Given the description of an element on the screen output the (x, y) to click on. 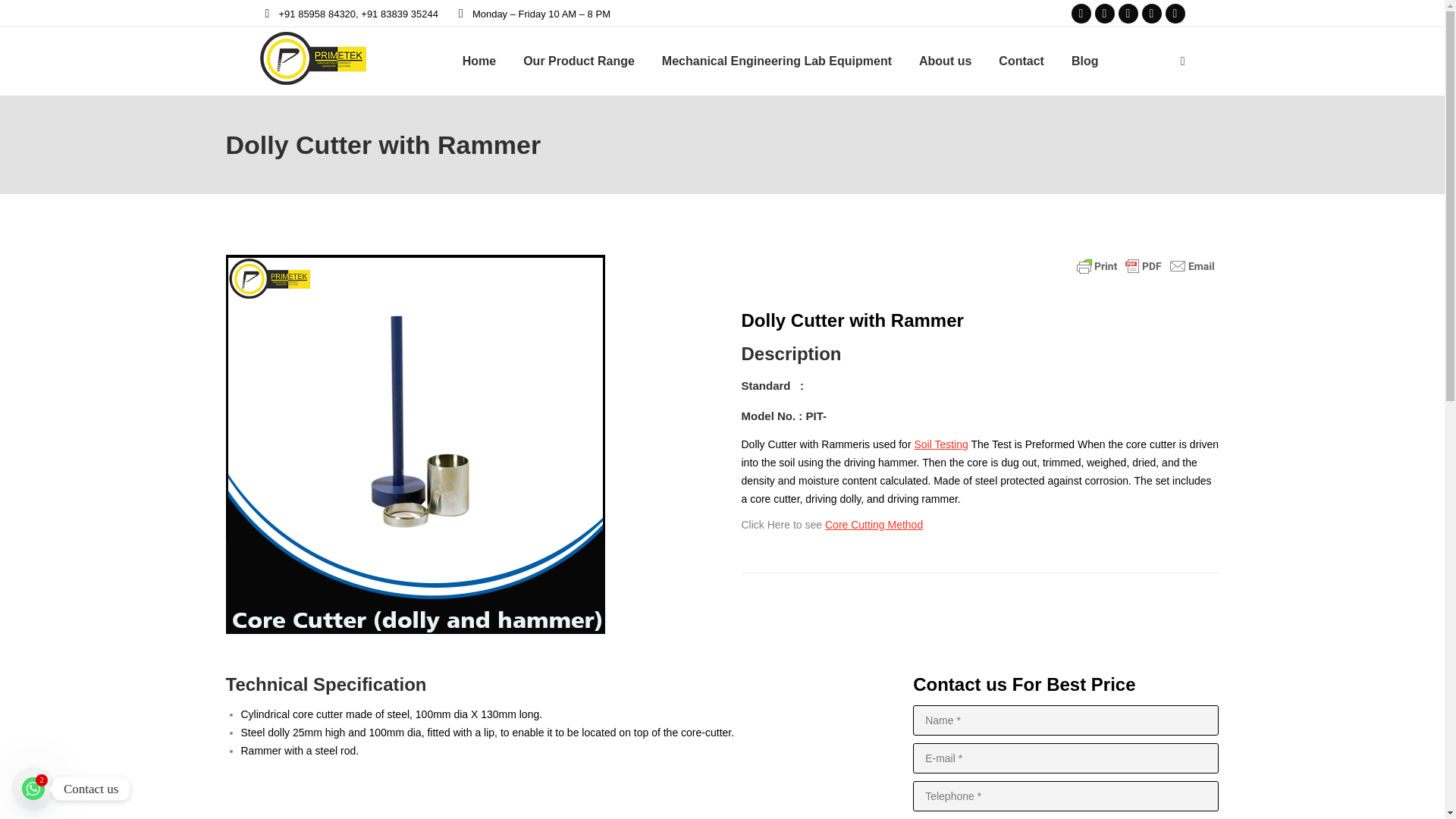
YouTube page opens in new window (1104, 13)
About us (944, 60)
Mechanical Engineering Lab Equipment (777, 60)
YouTube page opens in new window (1104, 13)
Whatsapp page opens in new window (1174, 13)
Facebook page opens in new window (1080, 13)
Contact (1020, 60)
Website page opens in new window (1151, 13)
Our Product Range (578, 60)
Linkedin page opens in new window (1127, 13)
Facebook page opens in new window (1080, 13)
Website page opens in new window (1151, 13)
Home (479, 60)
Linkedin page opens in new window (1127, 13)
Whatsapp page opens in new window (1174, 13)
